Given the description of an element on the screen output the (x, y) to click on. 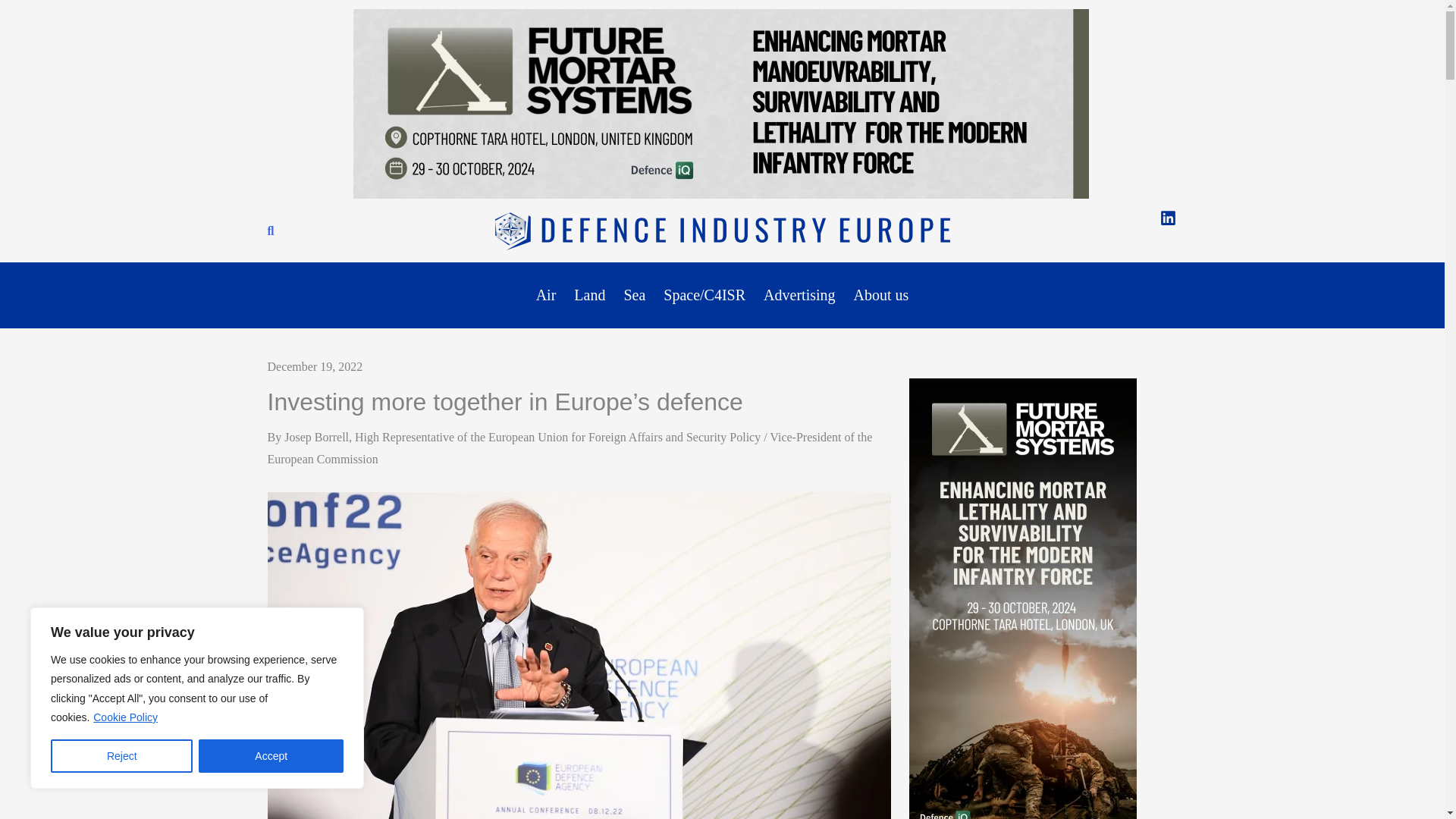
Accept (270, 756)
About us (880, 295)
Advertising (798, 295)
Cookie Policy (125, 716)
Reject (121, 756)
LinkedIn (1167, 217)
Land (589, 295)
